Given the description of an element on the screen output the (x, y) to click on. 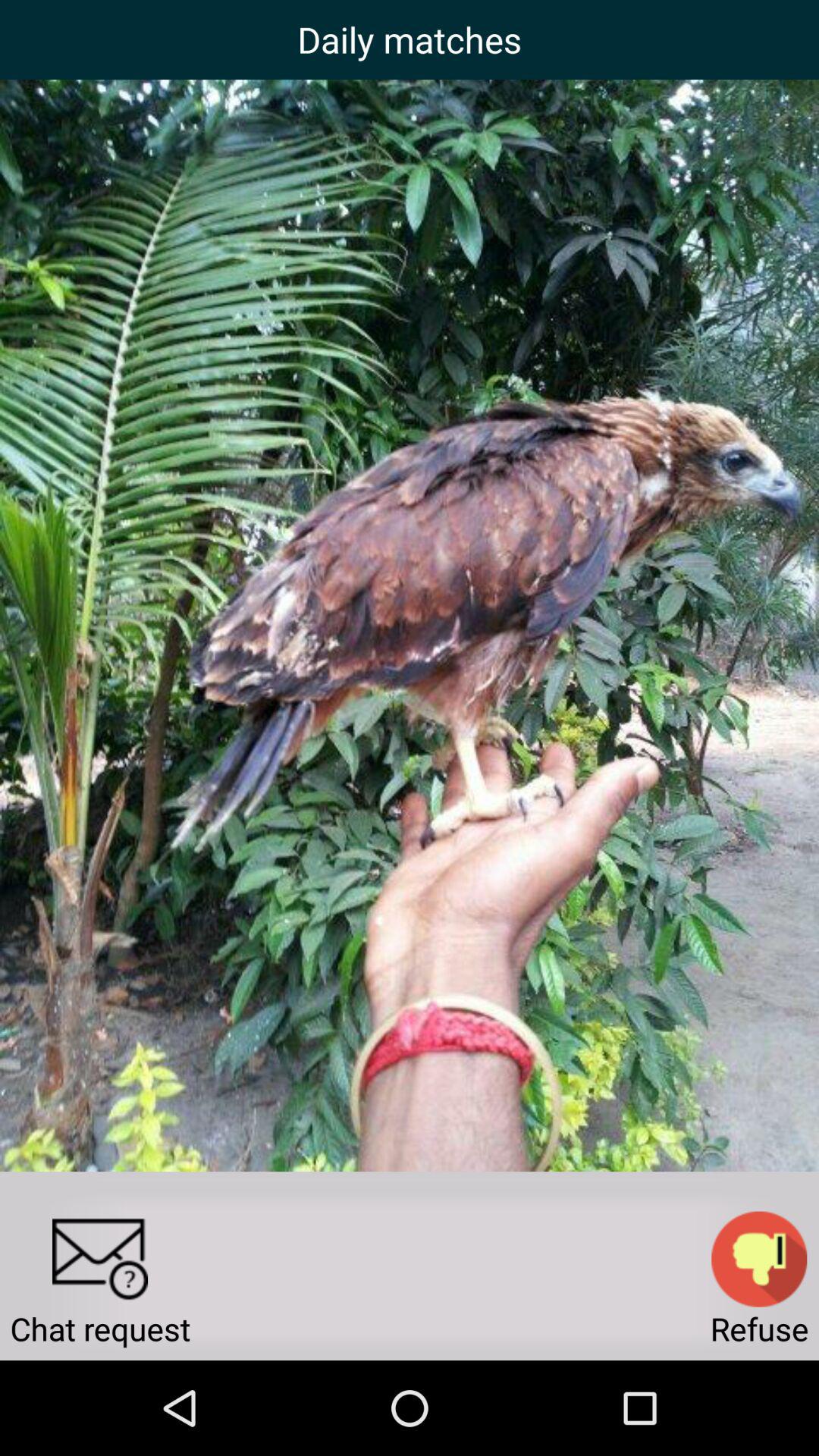
turn off the app to the right of chat request app (759, 1258)
